Given the description of an element on the screen output the (x, y) to click on. 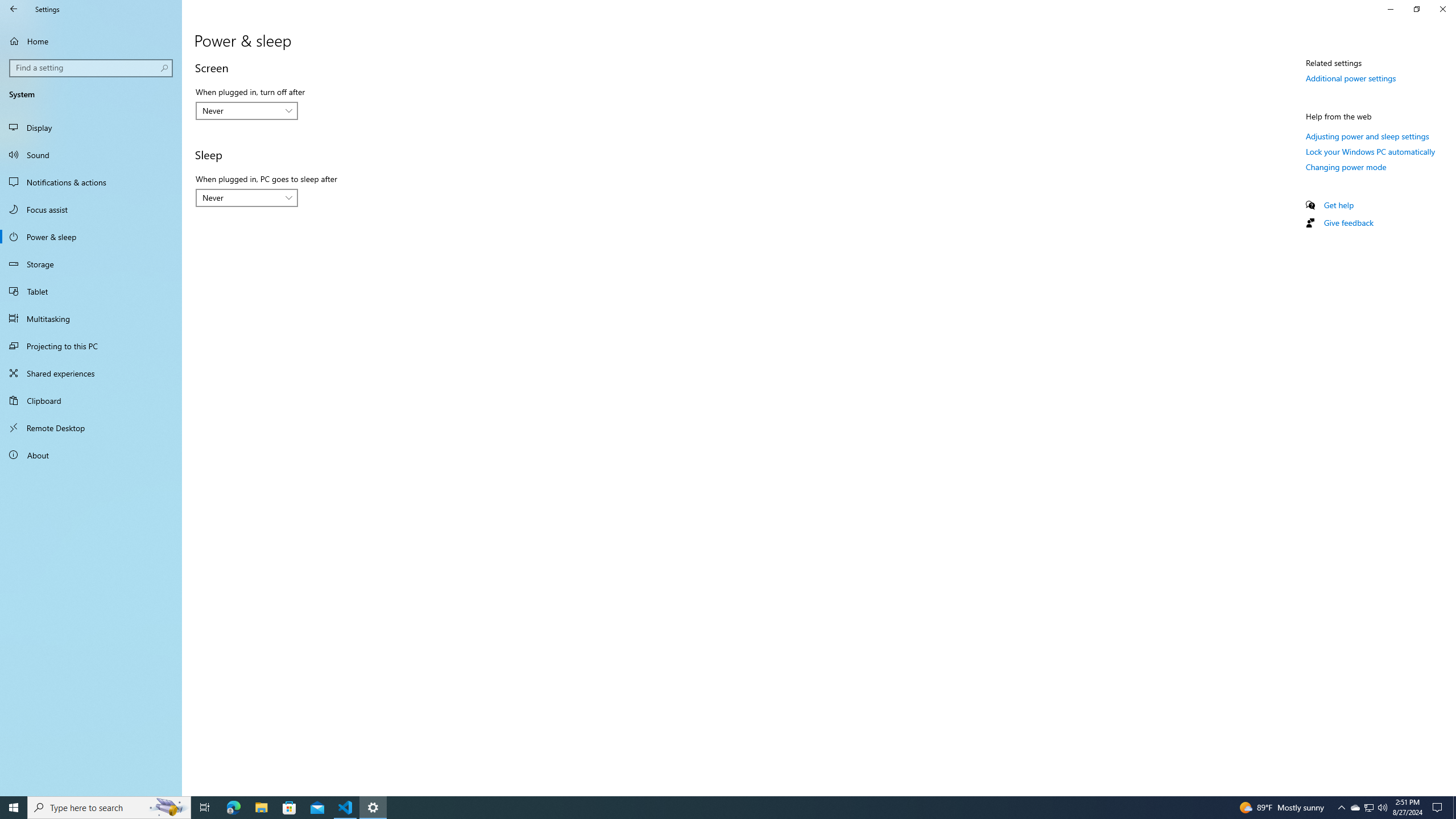
Focus assist (91, 208)
Shared experiences (91, 372)
Never (240, 197)
Power & sleep (91, 236)
Multitasking (91, 318)
Storage (91, 263)
Notifications & actions (91, 181)
